Given the description of an element on the screen output the (x, y) to click on. 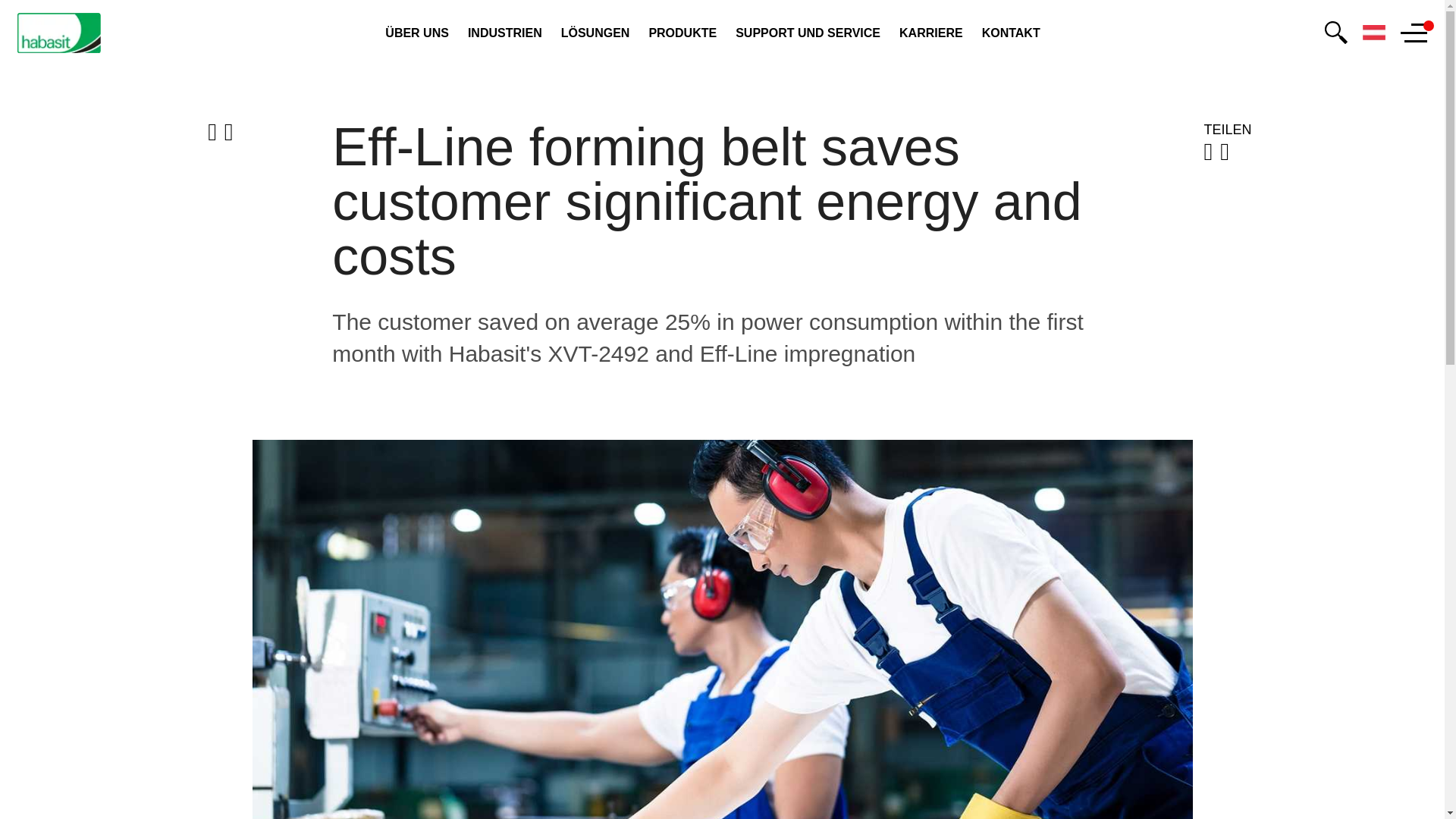
INDUSTRIEN (504, 33)
KARRIERE (930, 33)
Search (1336, 32)
KONTAKT (1011, 33)
Region selector (1374, 32)
SUPPORT UND SERVICE (807, 33)
PRODUKTE (681, 33)
